Given the description of an element on the screen output the (x, y) to click on. 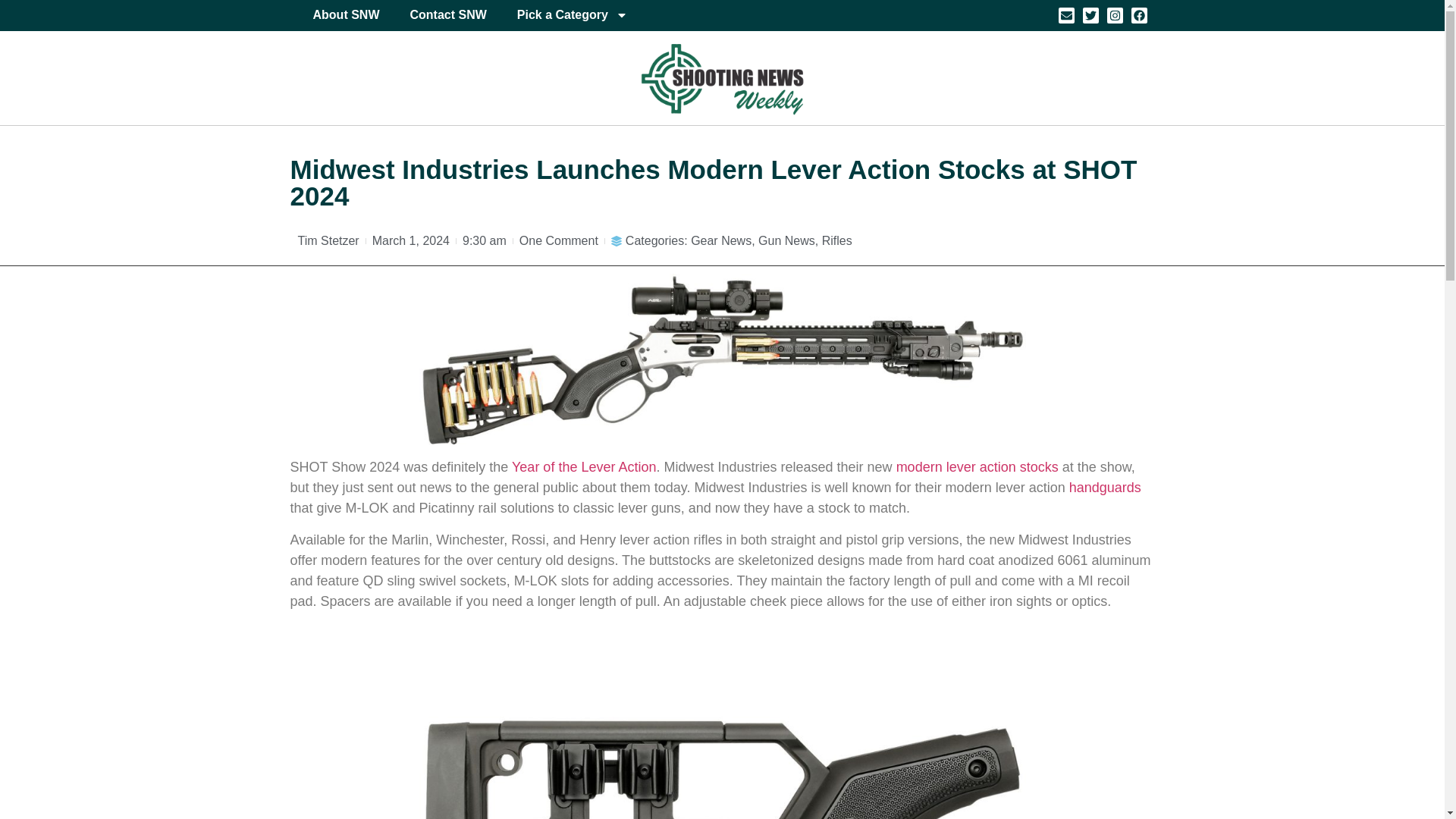
Contact SNW (447, 14)
Pick a Category (572, 14)
About SNW (345, 14)
